Given the description of an element on the screen output the (x, y) to click on. 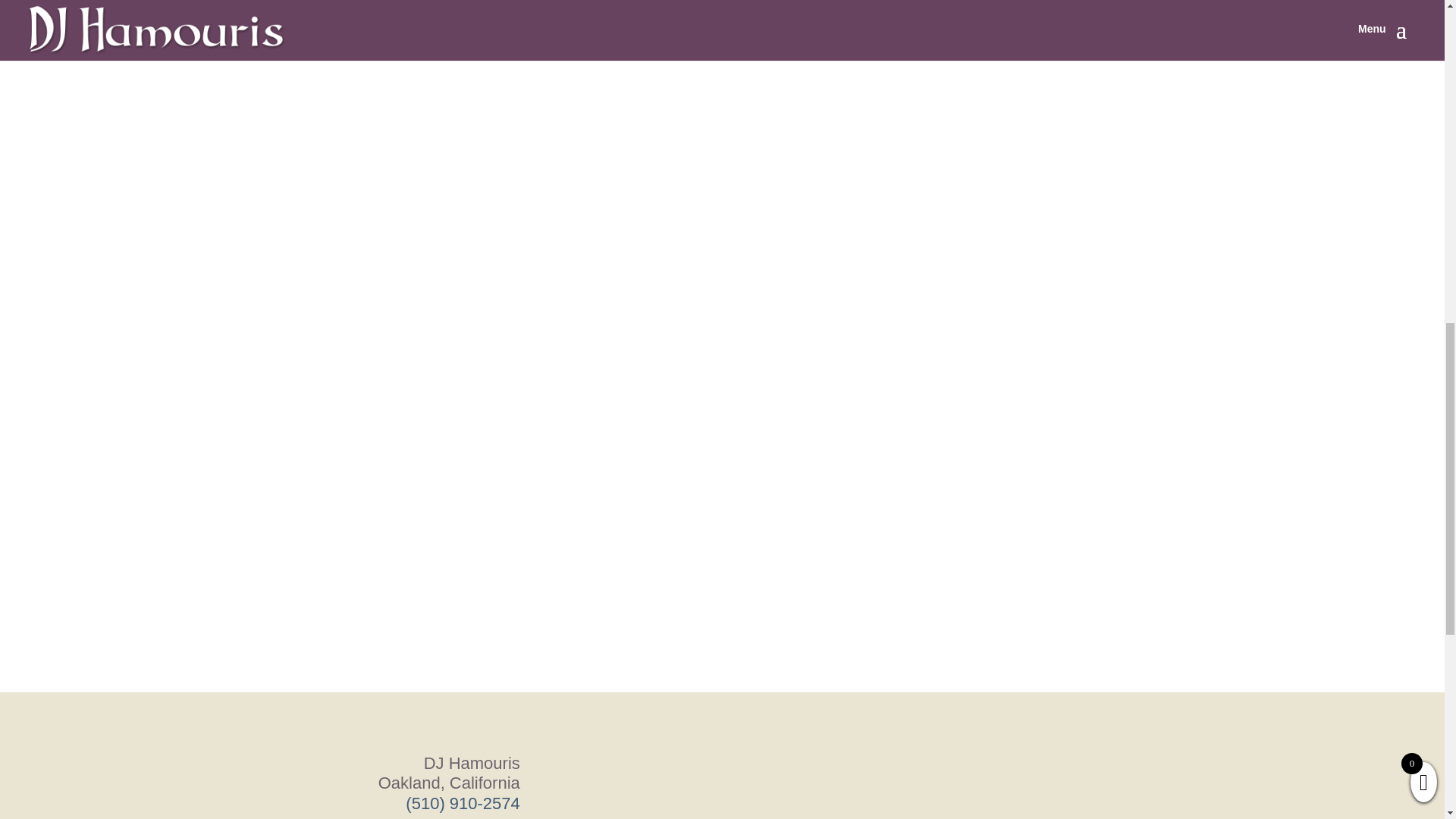
Submit (1084, 7)
